Given the description of an element on the screen output the (x, y) to click on. 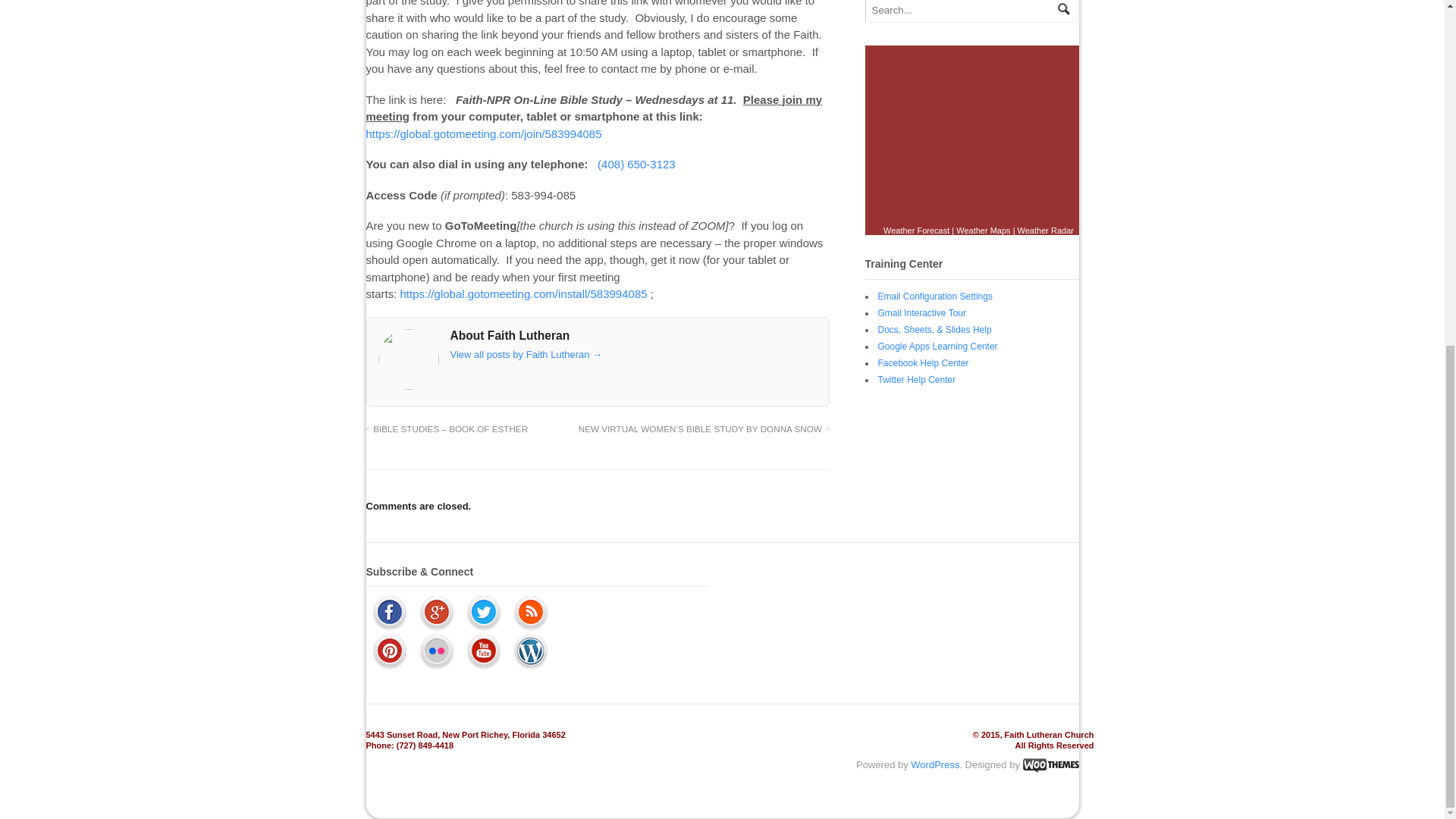
Subscribe to our RSS Feed (530, 613)
Connect with us on Facebook (389, 613)
WooThemes (1050, 764)
Photo pin us on Pintrest (389, 651)
WordPress.org (530, 651)
WordPress (935, 764)
Flickr DB of our Photos (436, 651)
Watch our custom Youtube Videos (483, 651)
Follow us on Twitter (483, 613)
Search... (962, 11)
